Given the description of an element on the screen output the (x, y) to click on. 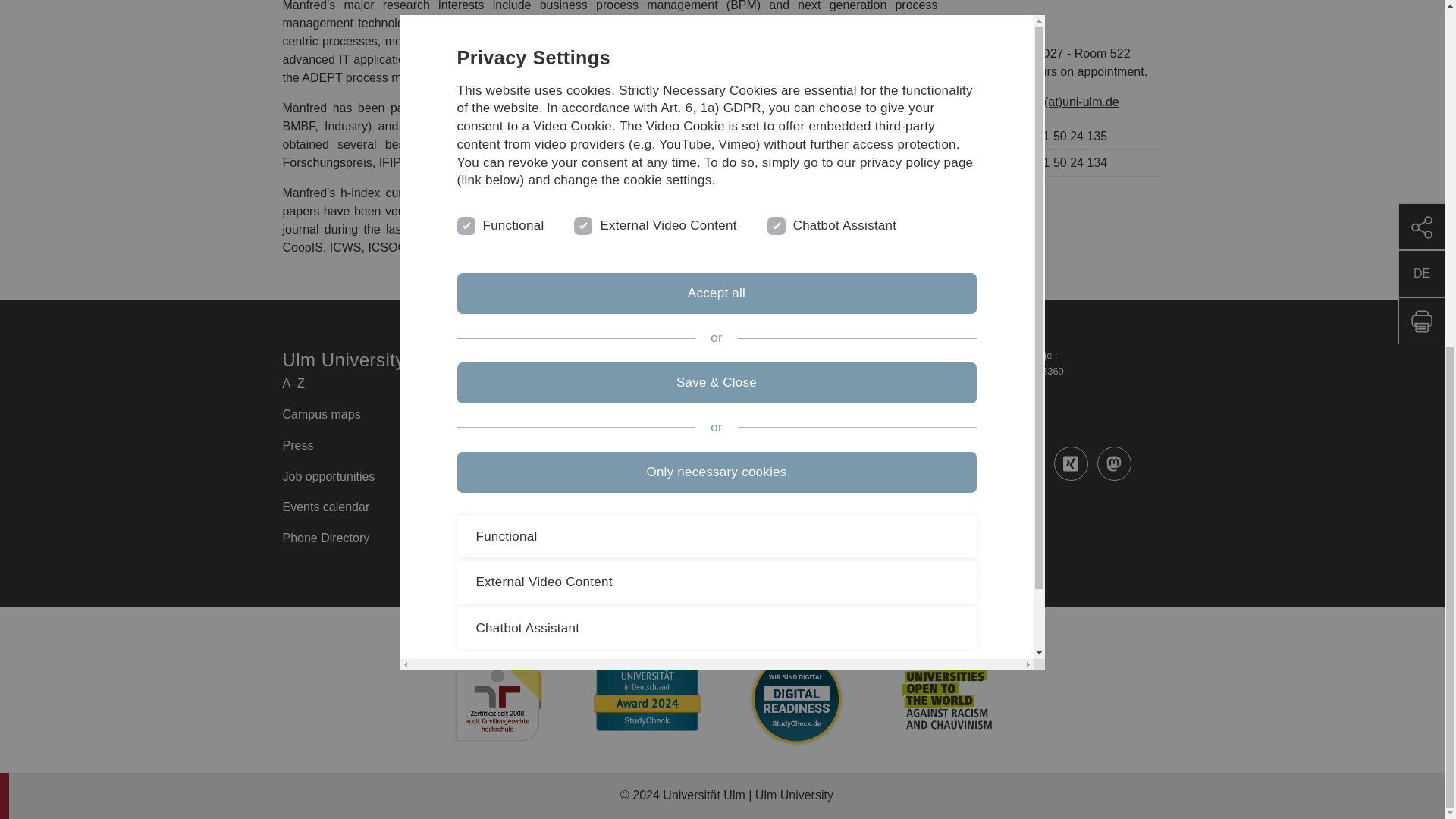
youtube (941, 463)
StudyCheck - top university (647, 690)
bluesky (897, 506)
facebook (897, 463)
Certificate since 2008 - audit family-friendly university (497, 699)
linkedin (1027, 463)
xing (1070, 463)
mastodon (1114, 463)
instagram (984, 463)
StudyCheck - digital readiness (796, 699)
